Given the description of an element on the screen output the (x, y) to click on. 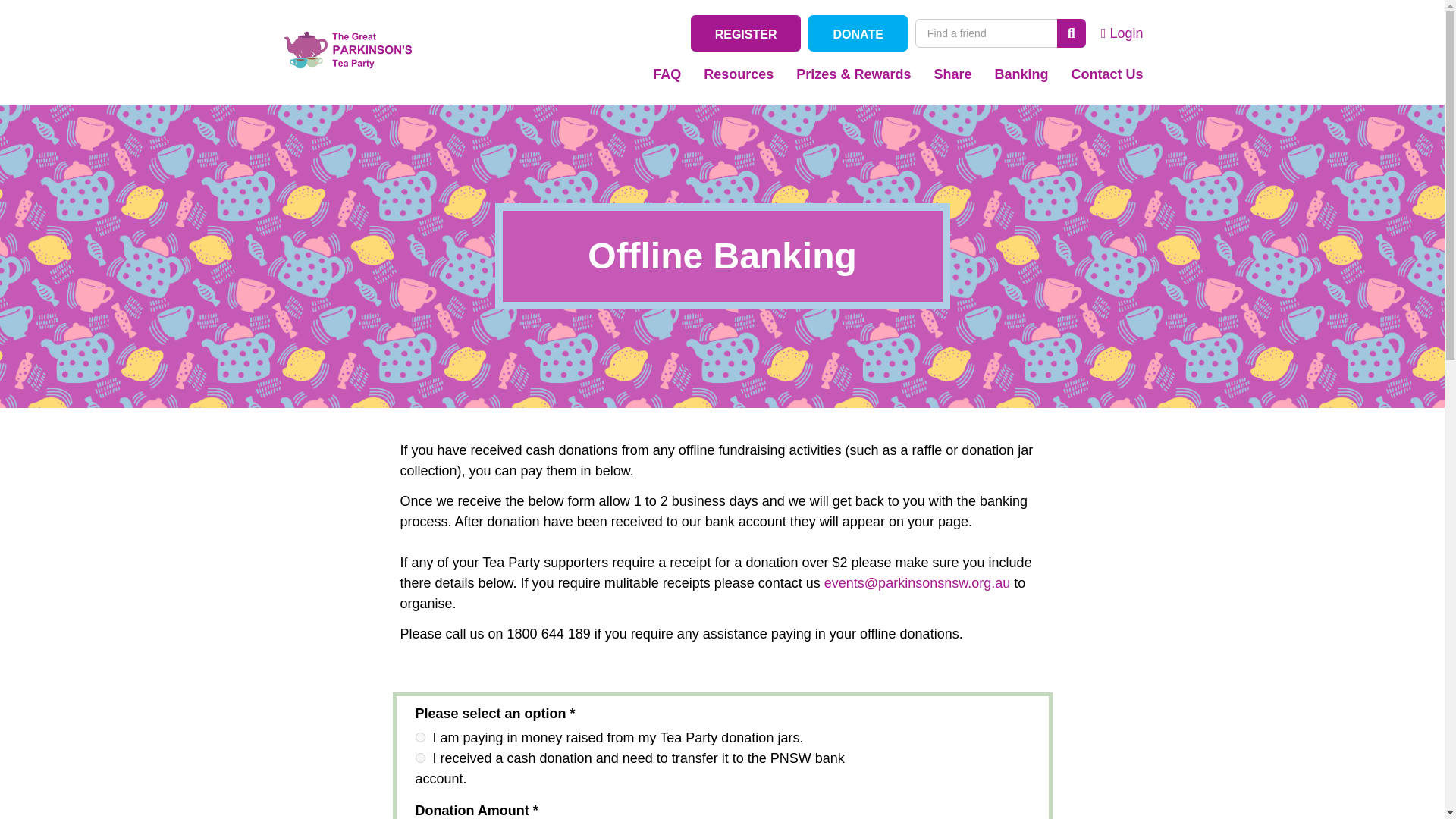
REGISTER (746, 33)
Resources (738, 74)
Contact Us (1106, 74)
Share (951, 74)
Banking (1020, 74)
Login (1121, 33)
I am paying in money raised from my Tea Party donation jars. (419, 737)
DONATE (857, 33)
FAQ (667, 74)
